Given the description of an element on the screen output the (x, y) to click on. 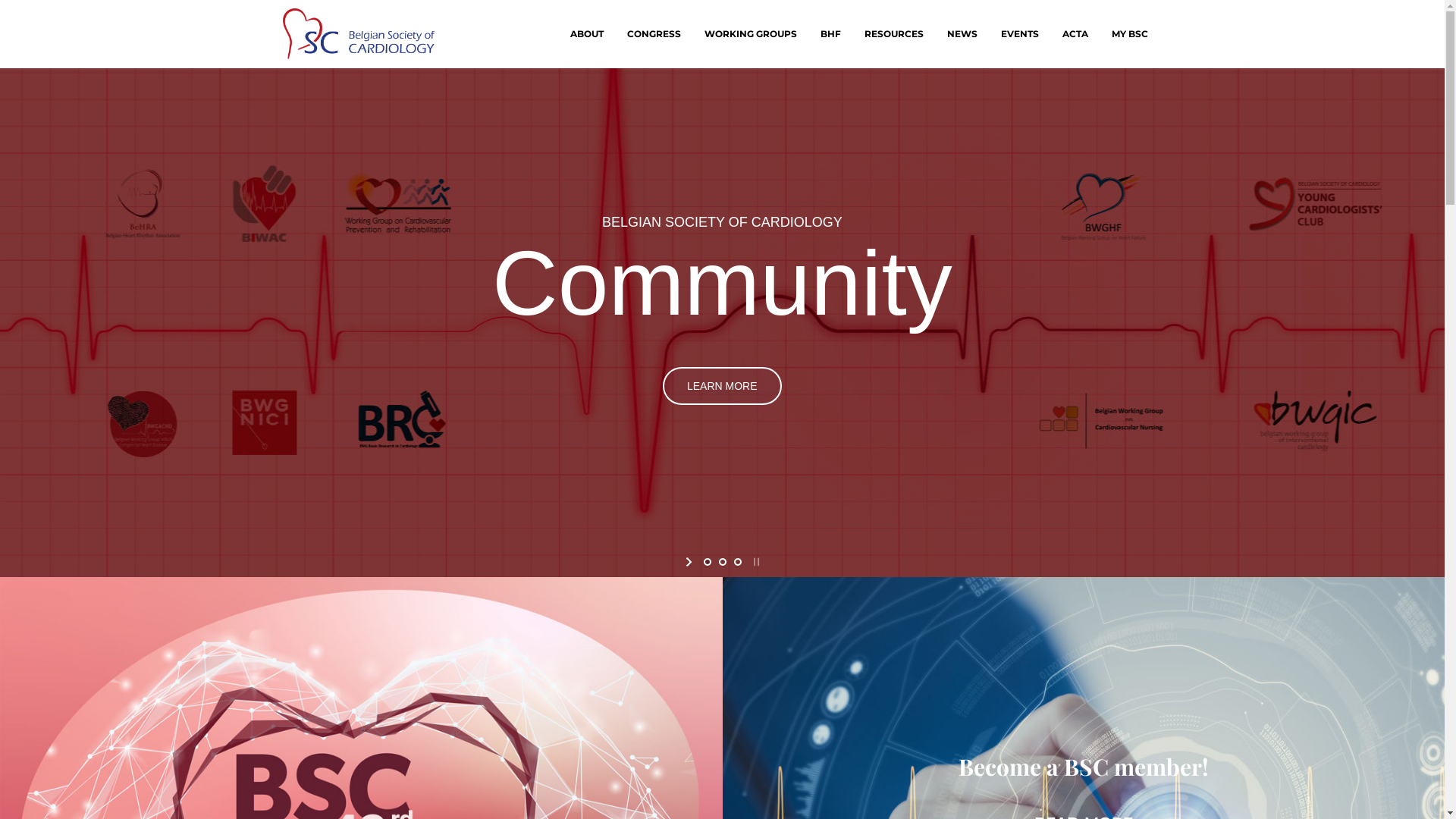
NEWS Element type: text (961, 33)
RESOURCES Element type: text (893, 33)
ABOUT Element type: text (586, 33)
BHF Element type: text (829, 33)
ACTA Element type: text (1075, 33)
CONGRESS Element type: text (653, 33)
EVENTS Element type: text (1018, 33)
MY BSC Element type: text (1128, 33)
WORKING GROUPS Element type: text (750, 33)
